Given the description of an element on the screen output the (x, y) to click on. 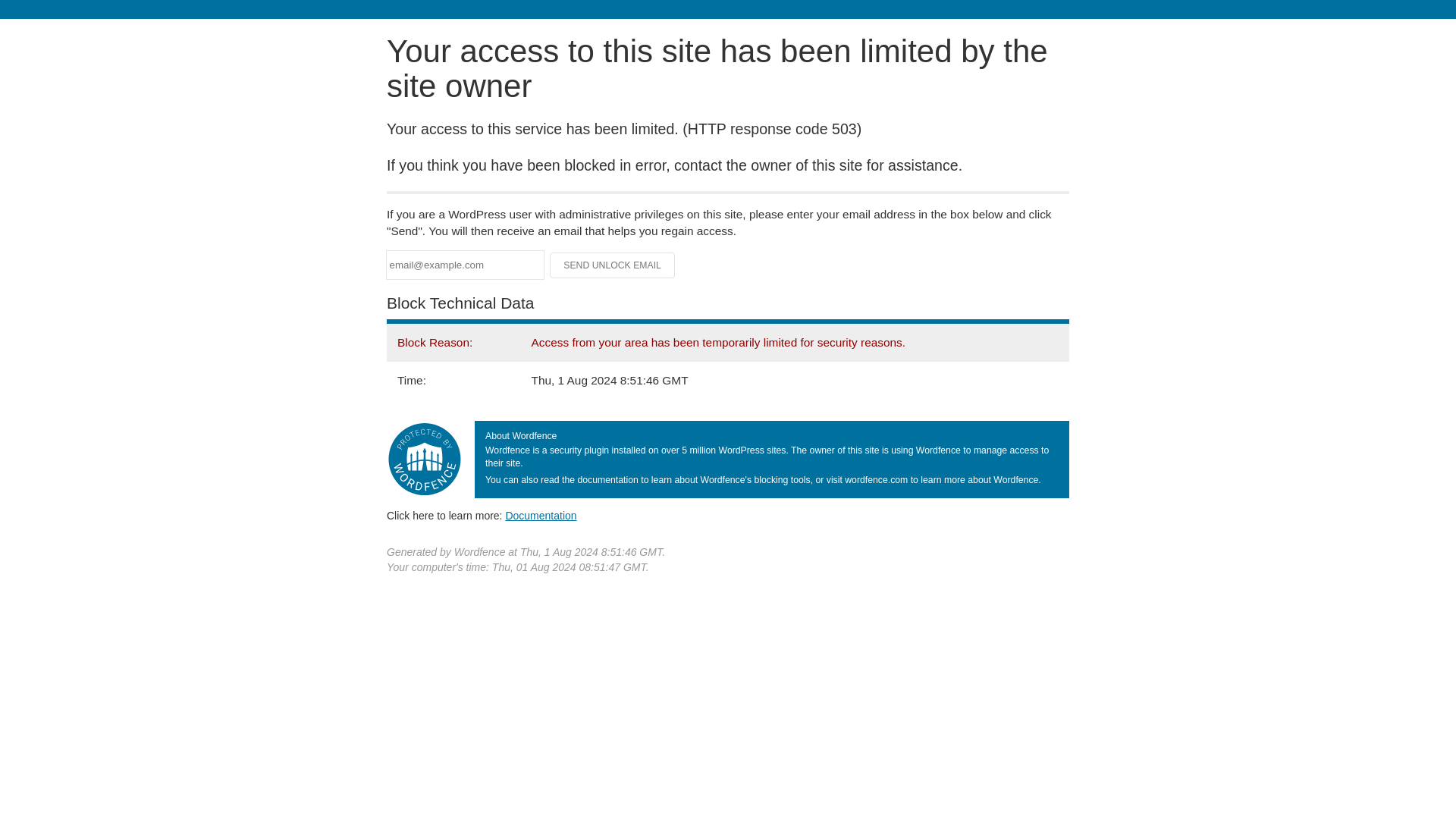
Send Unlock Email (612, 265)
Documentation (540, 515)
Send Unlock Email (612, 265)
